Given the description of an element on the screen output the (x, y) to click on. 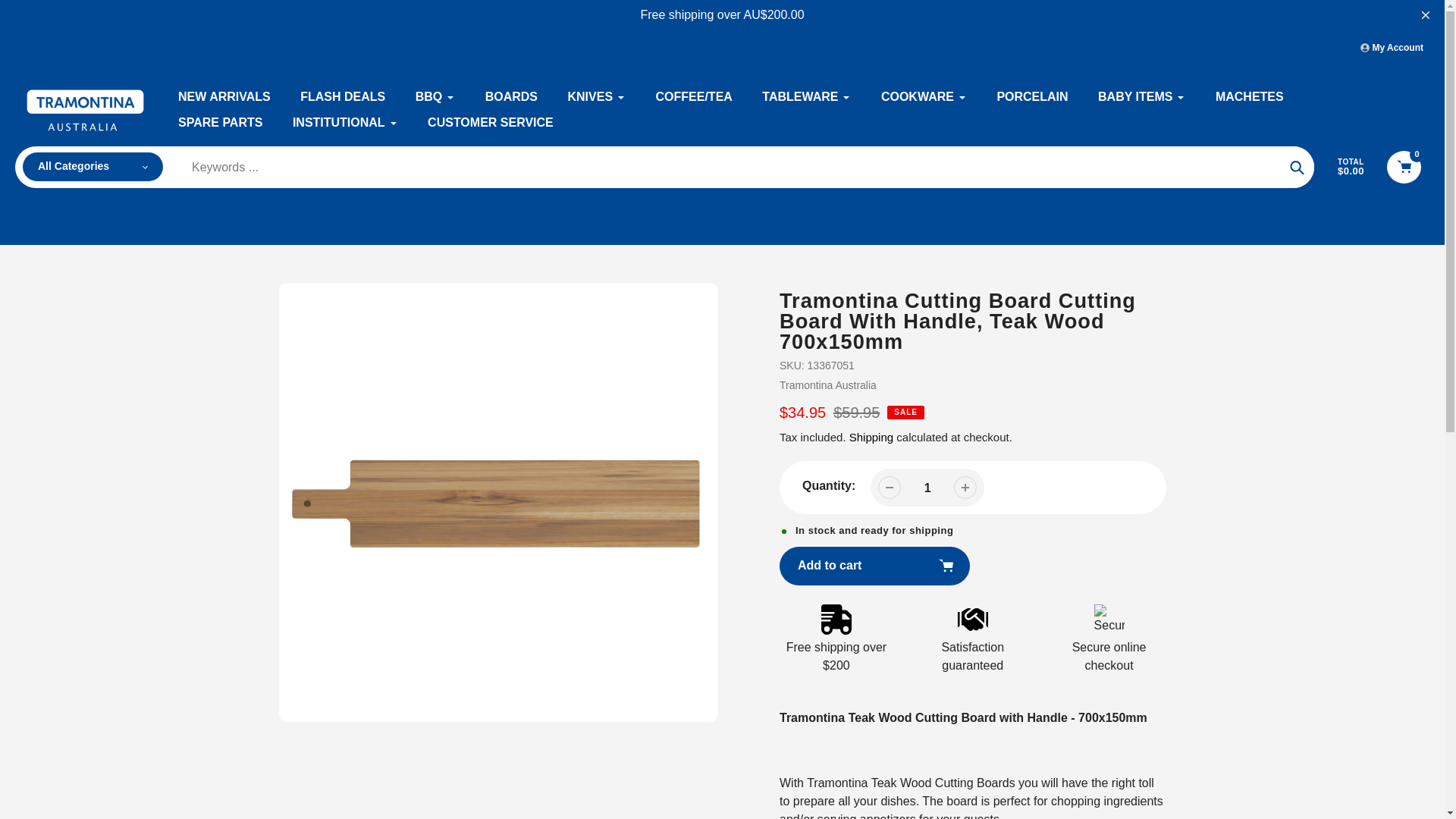
BOARDS (510, 96)
My Account (1391, 48)
TABLEWARE (805, 96)
BBQ (434, 96)
KNIVES (596, 96)
Tramontina Australia (827, 385)
NEW ARRIVALS (223, 96)
FLASH DEALS (342, 96)
1 (927, 487)
